Given the description of an element on the screen output the (x, y) to click on. 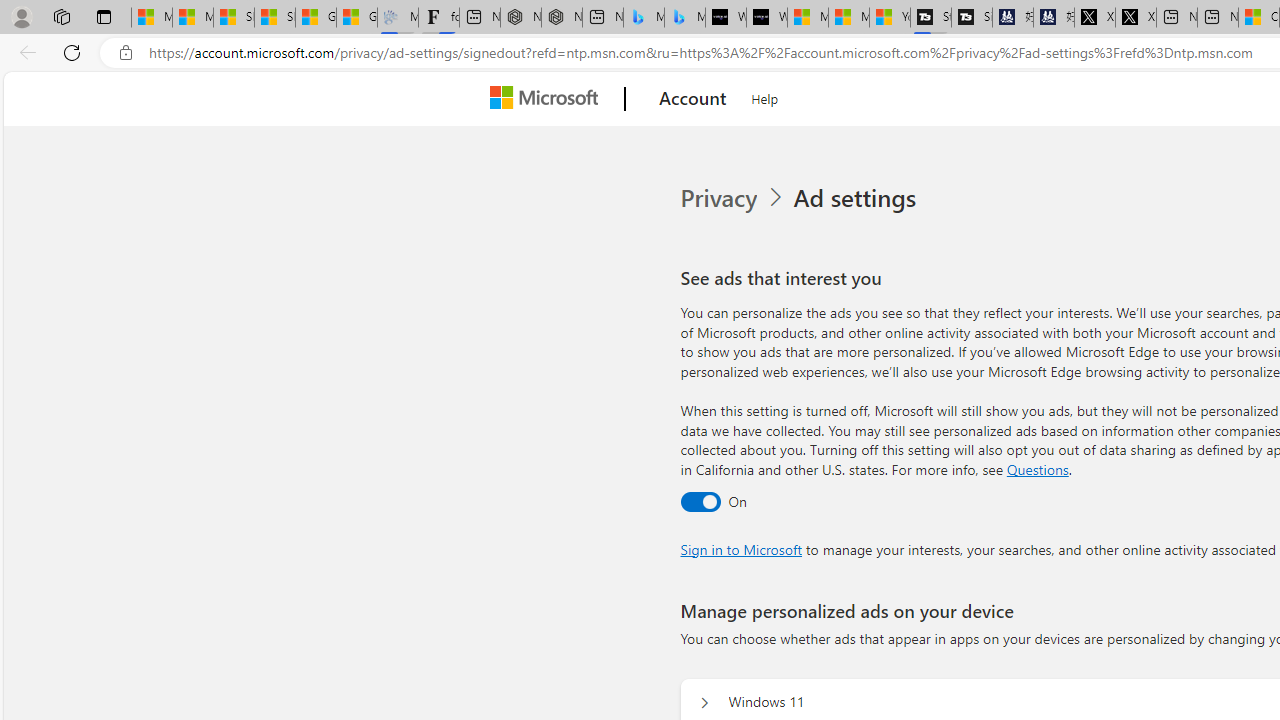
Help (765, 96)
Privacy (720, 197)
Gilma and Hector both pose tropical trouble for Hawaii (356, 17)
Microsoft Bing Travel - Shangri-La Hotel Bangkok (684, 17)
Help (765, 96)
Account (692, 99)
Microsoft Bing Travel - Stays in Bangkok, Bangkok, Thailand (643, 17)
